Given the description of an element on the screen output the (x, y) to click on. 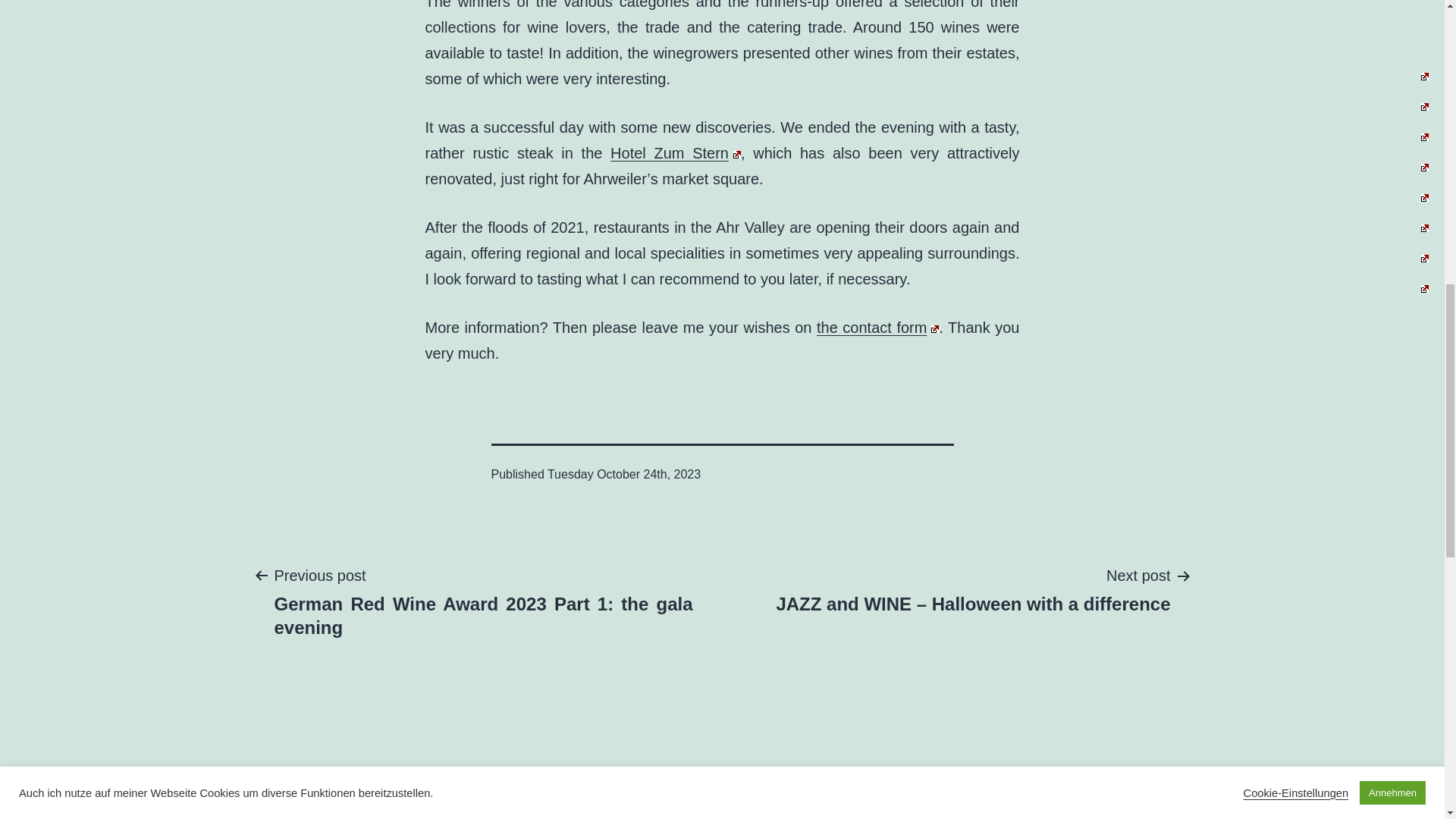
the contact form (877, 327)
Hotel Zum Stern (675, 152)
